Given the description of an element on the screen output the (x, y) to click on. 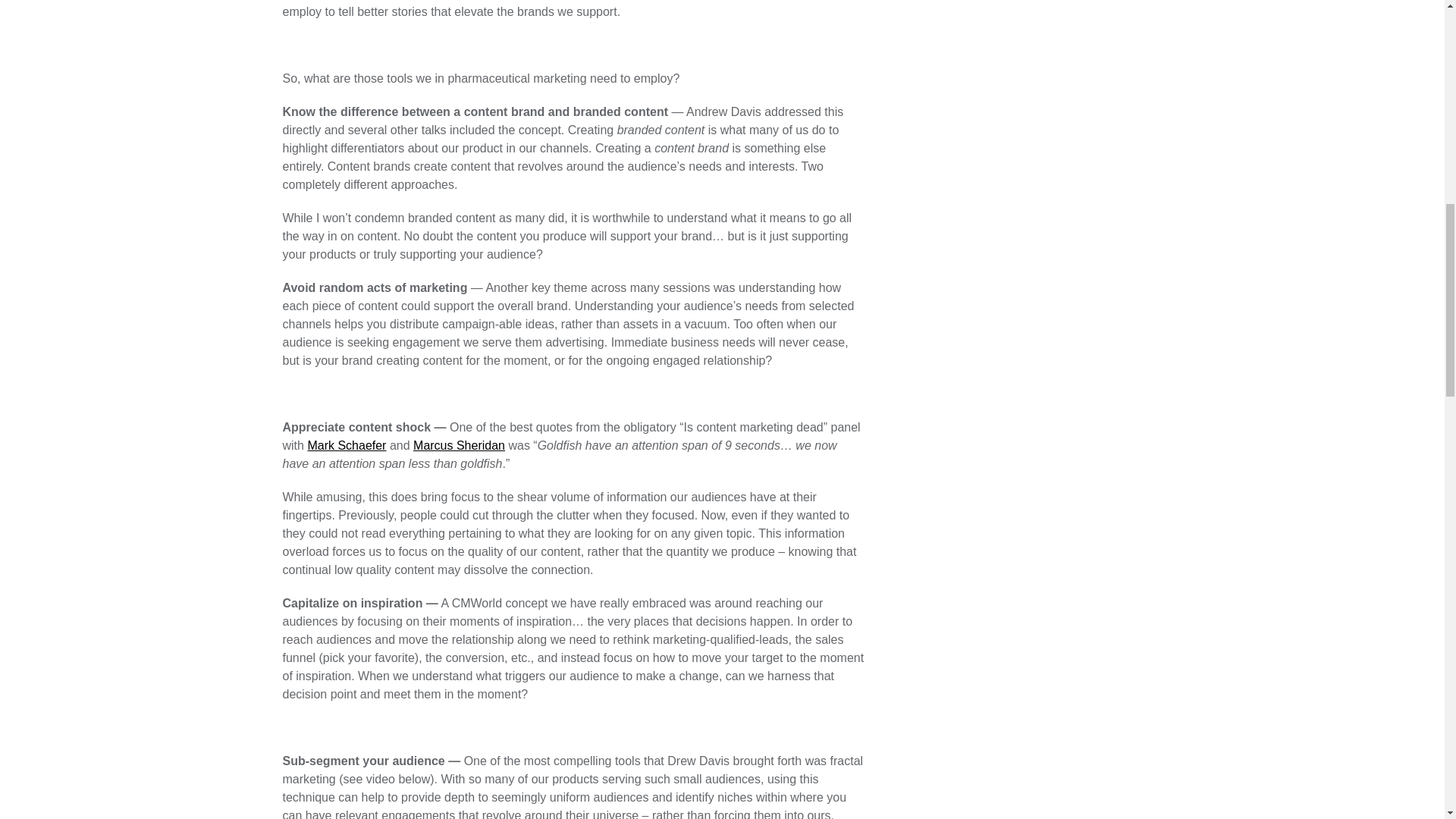
Marcus Sheridan (459, 445)
Mark Schaefer (346, 445)
